Given the description of an element on the screen output the (x, y) to click on. 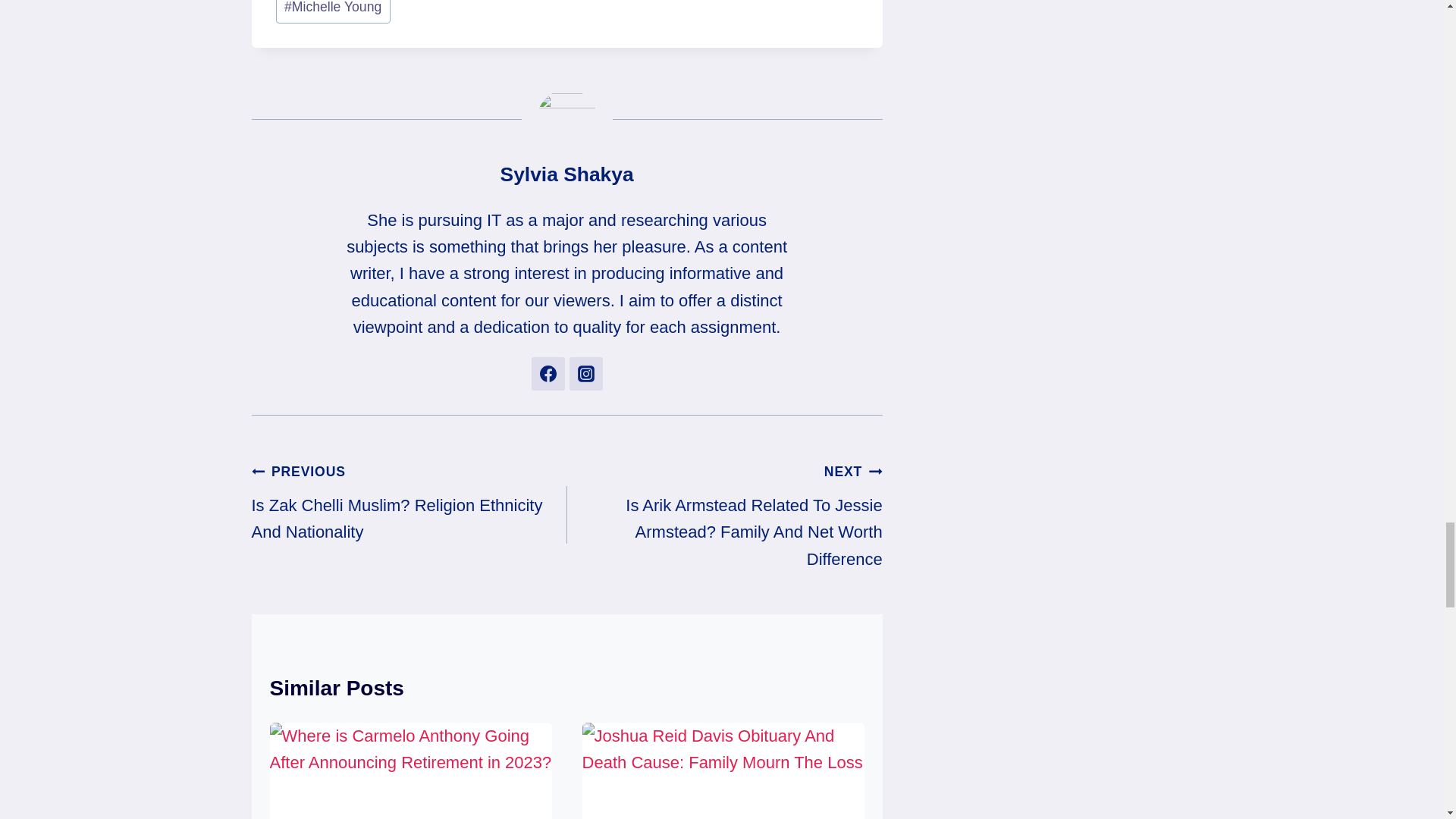
Posts by Sylvia Shakya (566, 173)
Follow Sylvia Shakya on Facebook (547, 373)
Sylvia Shakya (566, 173)
Follow Sylvia Shakya on Instagram (585, 373)
Michelle Young (333, 11)
